Given the description of an element on the screen output the (x, y) to click on. 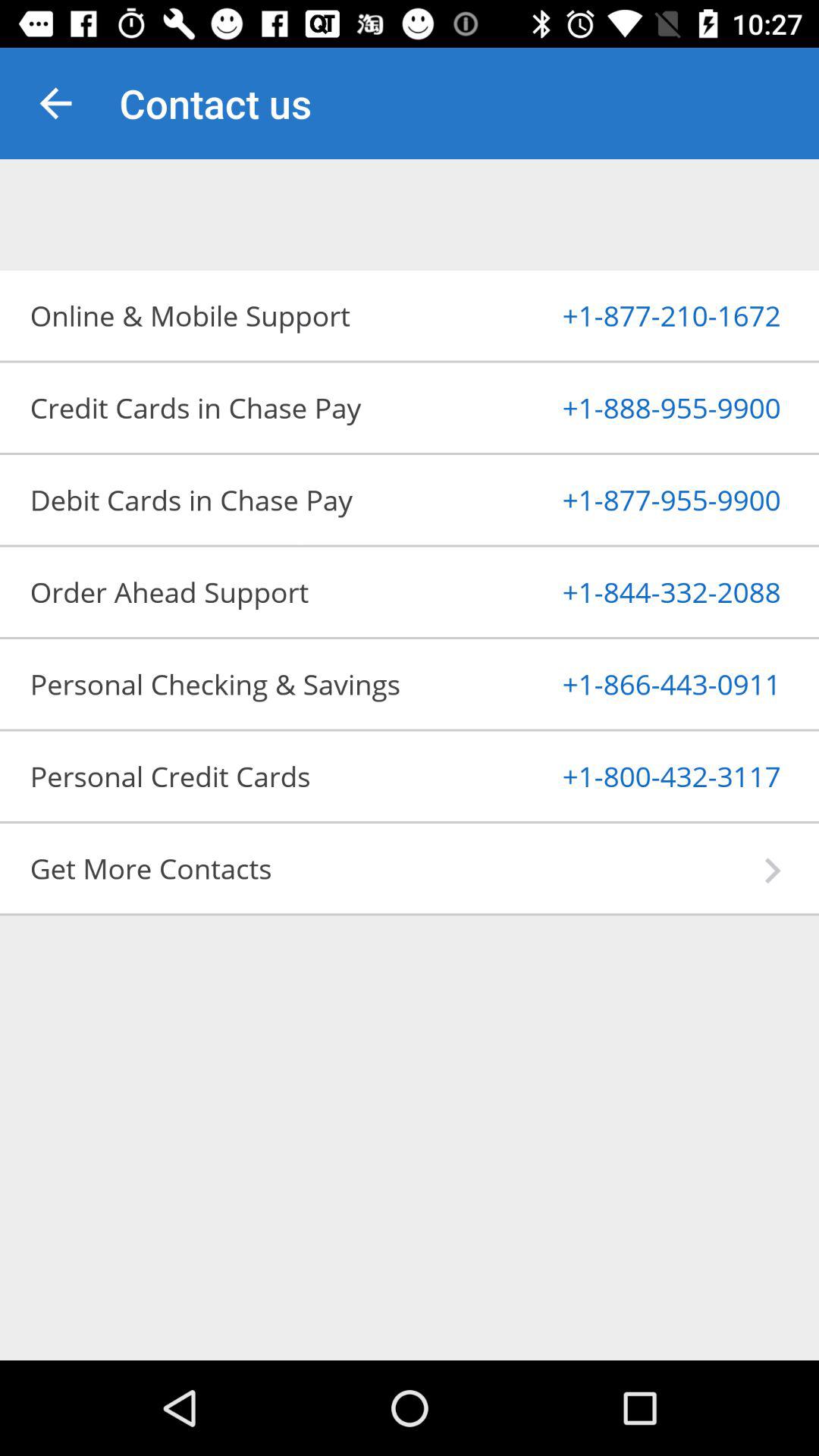
tap icon above the online & mobile support app (55, 103)
